Given the description of an element on the screen output the (x, y) to click on. 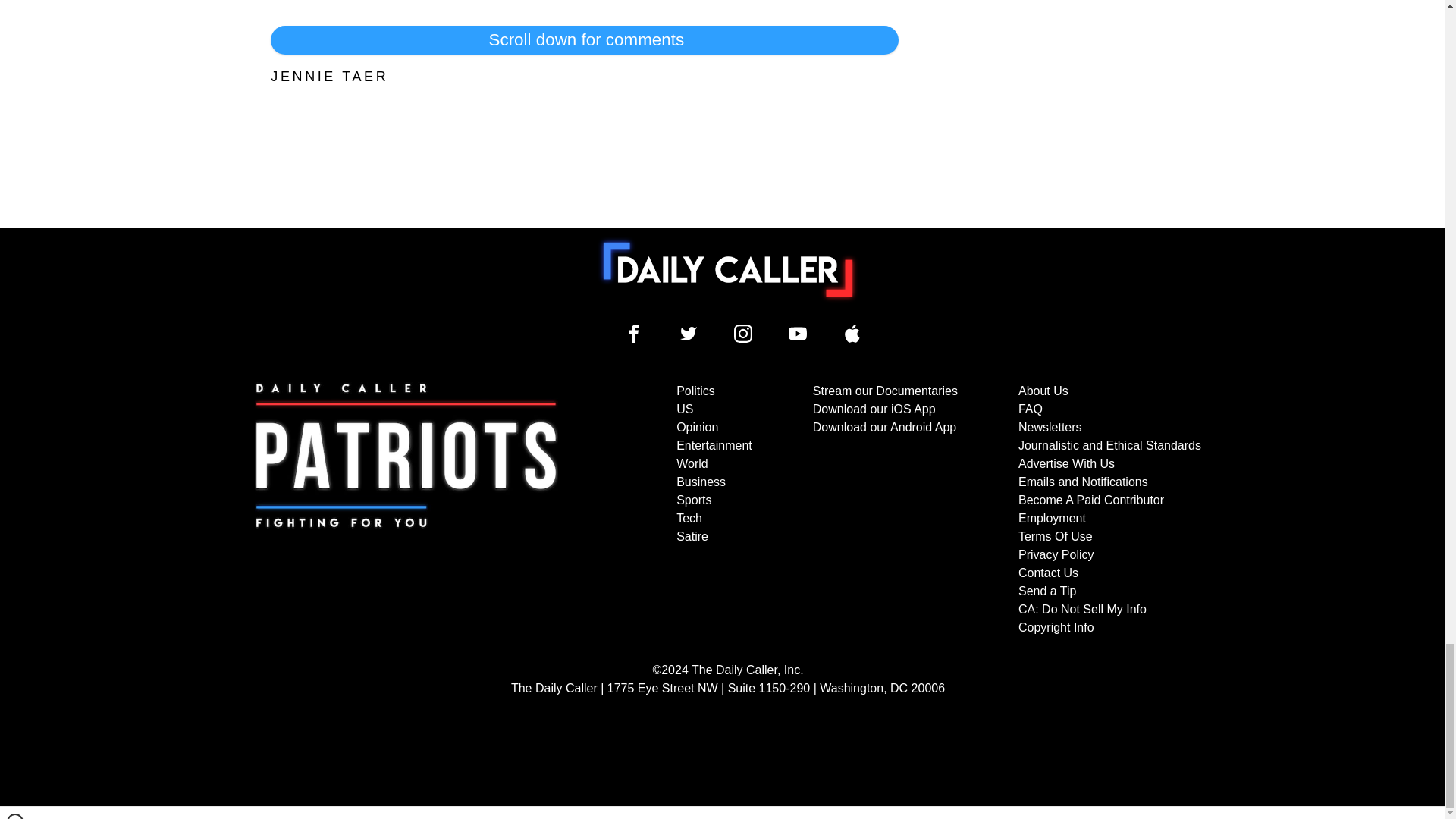
Daily Caller YouTube (852, 333)
Daily Caller Facebook (633, 333)
Daily Caller Instagram (742, 333)
Daily Caller Twitter (688, 333)
Scroll down for comments (584, 39)
Daily Caller YouTube (797, 333)
To home page (727, 269)
Subscribe to The Daily Caller (405, 509)
